Given the description of an element on the screen output the (x, y) to click on. 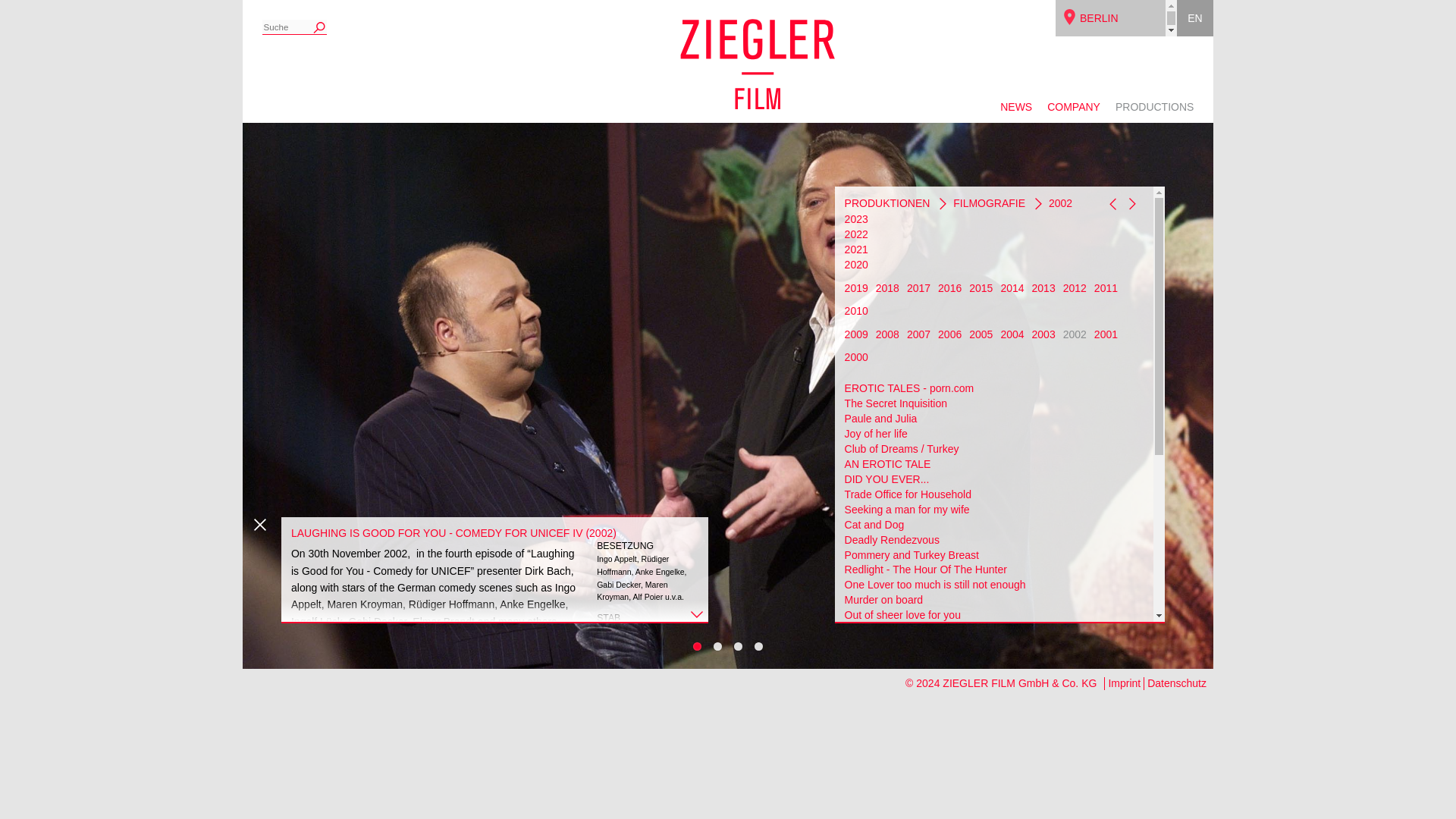
PRODUCTIONS (1154, 110)
PRODUKTIONEN (887, 203)
Homepage (1106, 54)
3 (737, 646)
COLOGNE (1106, 54)
MUNICH (1101, 128)
Homepage (1100, 165)
NEWS (1016, 110)
COMPANY (1073, 110)
CINEMA (1100, 165)
